Given the description of an element on the screen output the (x, y) to click on. 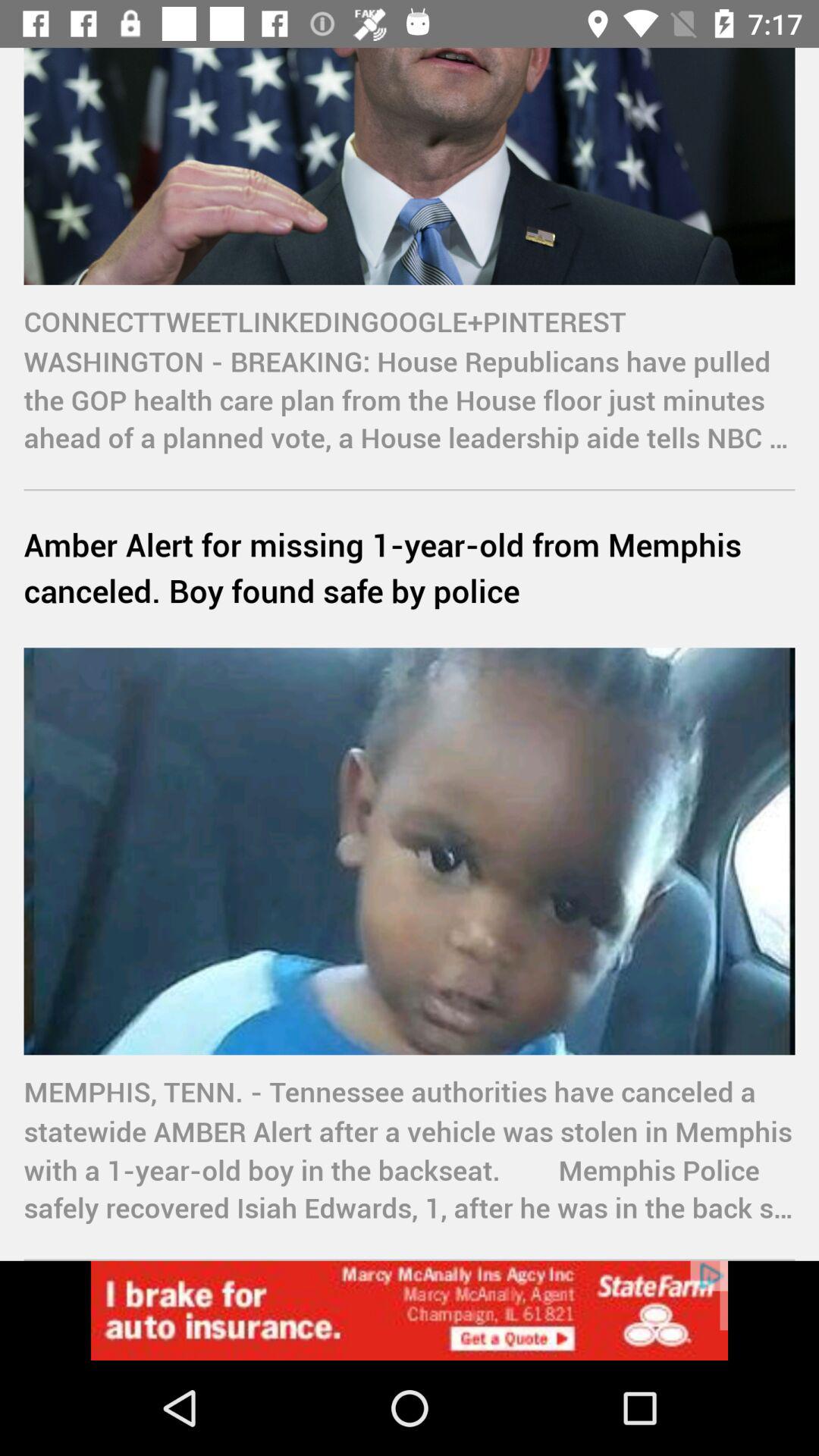
advertisement page (409, 1310)
